Given the description of an element on the screen output the (x, y) to click on. 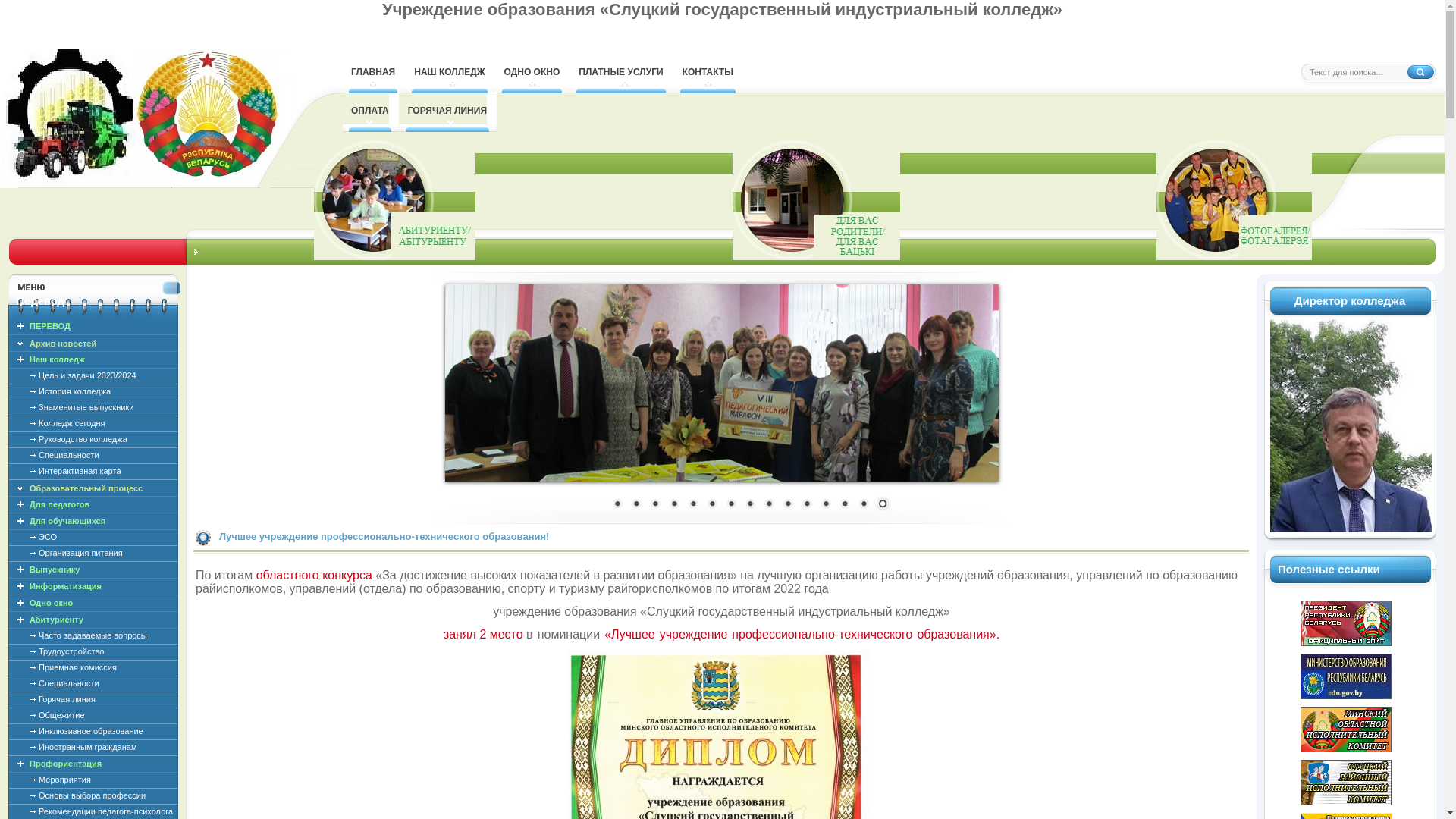
8 Element type: text (749, 504)
10 Element type: text (787, 504)
4 Element type: text (673, 504)
7 Element type: text (729, 504)
12 Element type: text (825, 504)
9 Element type: text (767, 504)
13 Element type: text (843, 504)
15 Element type: text (881, 504)
3 Element type: text (654, 504)
6 Element type: text (711, 504)
1 Element type: text (616, 504)
2 Element type: text (635, 504)
11 Element type: text (805, 504)
14 Element type: text (863, 504)
5 Element type: text (692, 504)
